Given the description of an element on the screen output the (x, y) to click on. 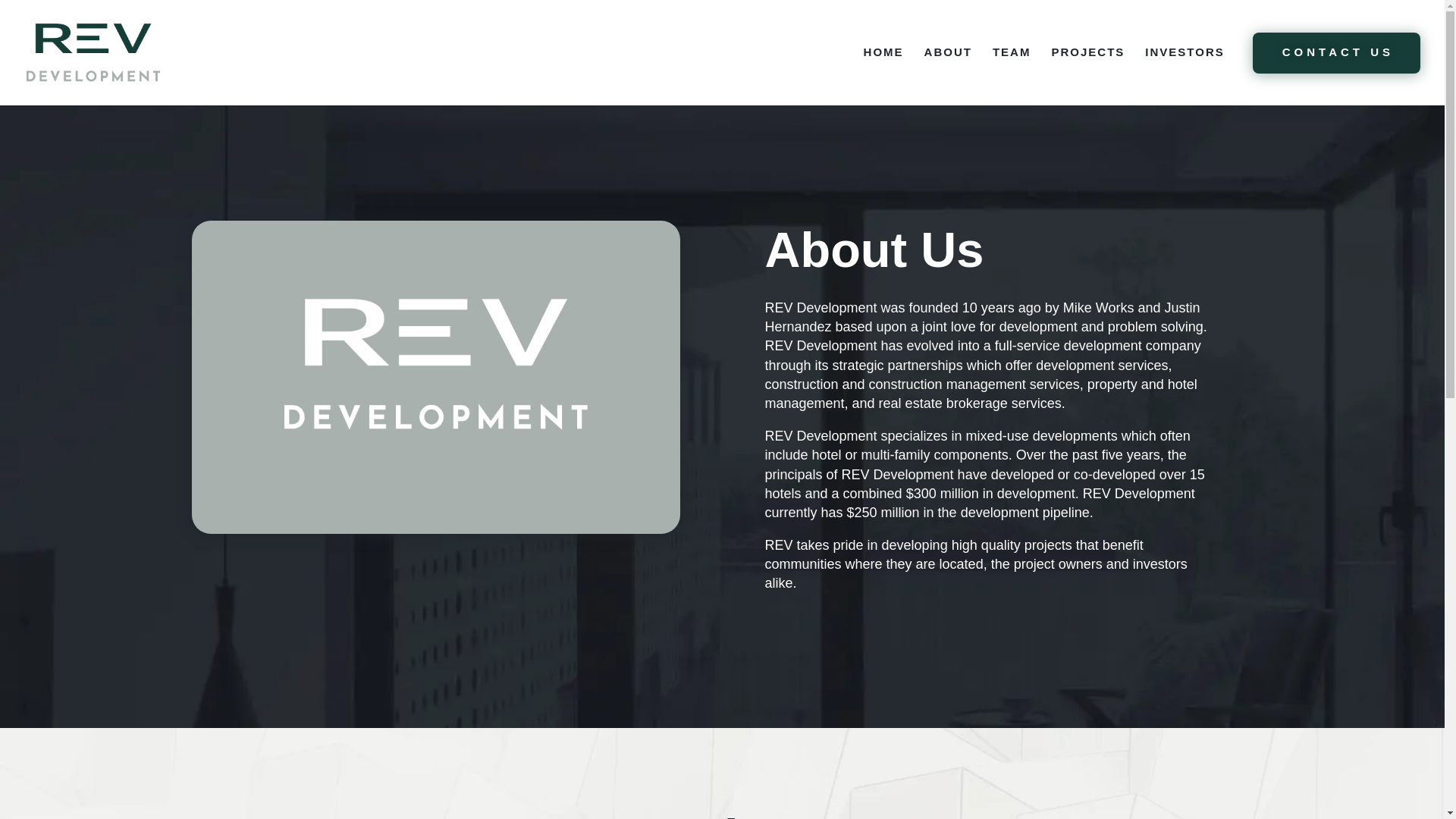
ABOUT (948, 71)
CONTACT US (1336, 52)
Logo-png-09 Molly (434, 363)
INVESTORS (1184, 71)
PROJECTS (1087, 71)
